Given the description of an element on the screen output the (x, y) to click on. 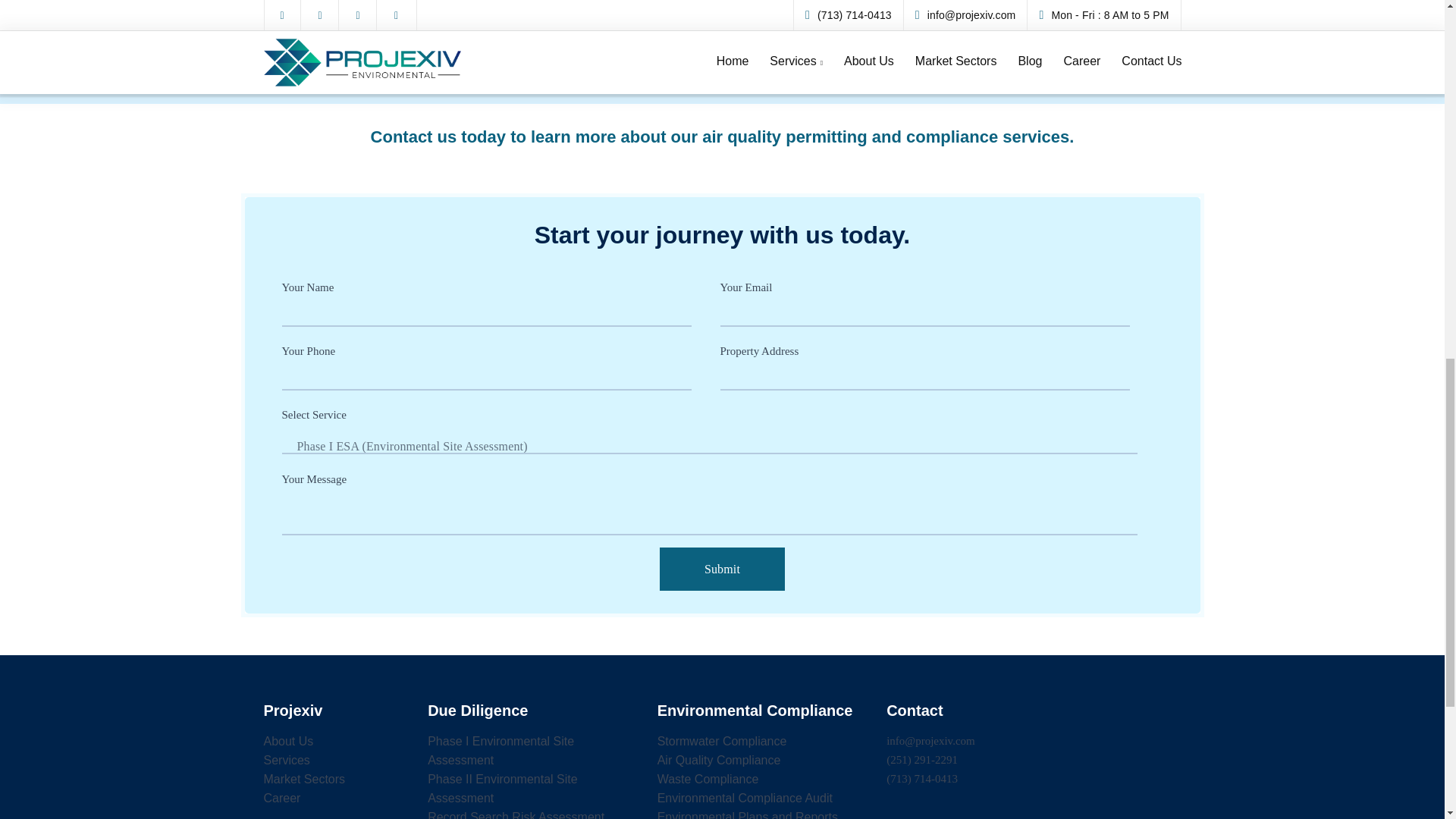
Phase II Environmental Site Assessment (502, 791)
Submit (721, 568)
Services (286, 762)
Market Sectors (304, 781)
Submit (721, 568)
About Us (288, 743)
Phase I Environmental Site Assessment (500, 752)
Career (282, 800)
